Given the description of an element on the screen output the (x, y) to click on. 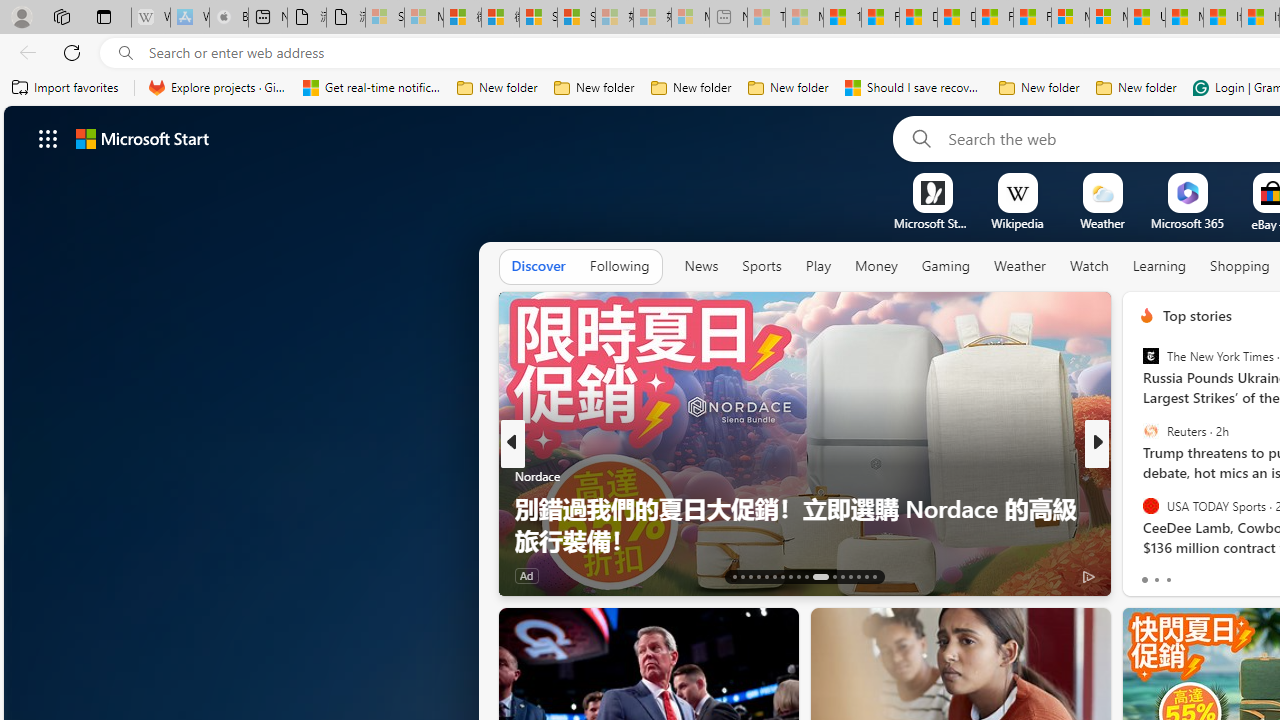
View comments 460 Comment (1247, 574)
Microsoft start (142, 138)
Wikipedia - Sleeping (150, 17)
AutomationID: tab-15 (750, 576)
US Heat Deaths Soared To Record High Last Year (1145, 17)
Wikipedia (1017, 223)
AutomationID: tab-23 (820, 576)
15 Like (1149, 574)
IT Concept (1158, 507)
AutomationID: tab-20 (789, 576)
Should I save recovered Word documents? - Microsoft Support (913, 88)
